Given the description of an element on the screen output the (x, y) to click on. 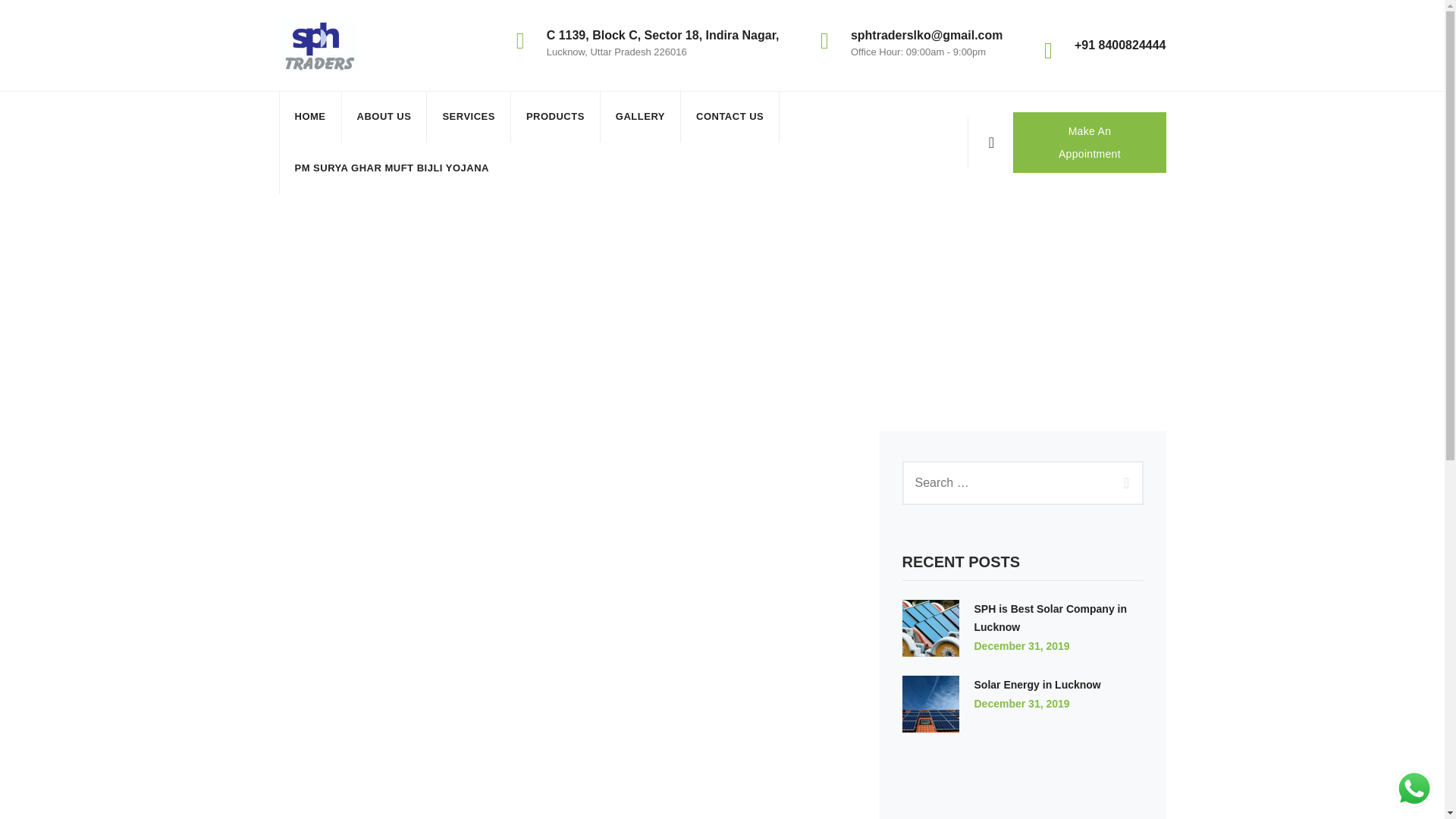
PM SURYA GHAR MUFT BIJLI YOJANA (391, 168)
PRODUCTS (555, 116)
SPH is Best Solar Company in Lucknow (1050, 617)
December 31, 2019 (1021, 645)
December 31, 2019 (1021, 703)
Solar Energy in Lucknow (1037, 684)
GALLERY (640, 116)
SPH Traders (318, 45)
ABOUT US (383, 116)
WhatsApp us (1413, 788)
HOME (309, 116)
Make An Appointment (1089, 142)
CONTACT US (728, 116)
SERVICES (468, 116)
